Given the description of an element on the screen output the (x, y) to click on. 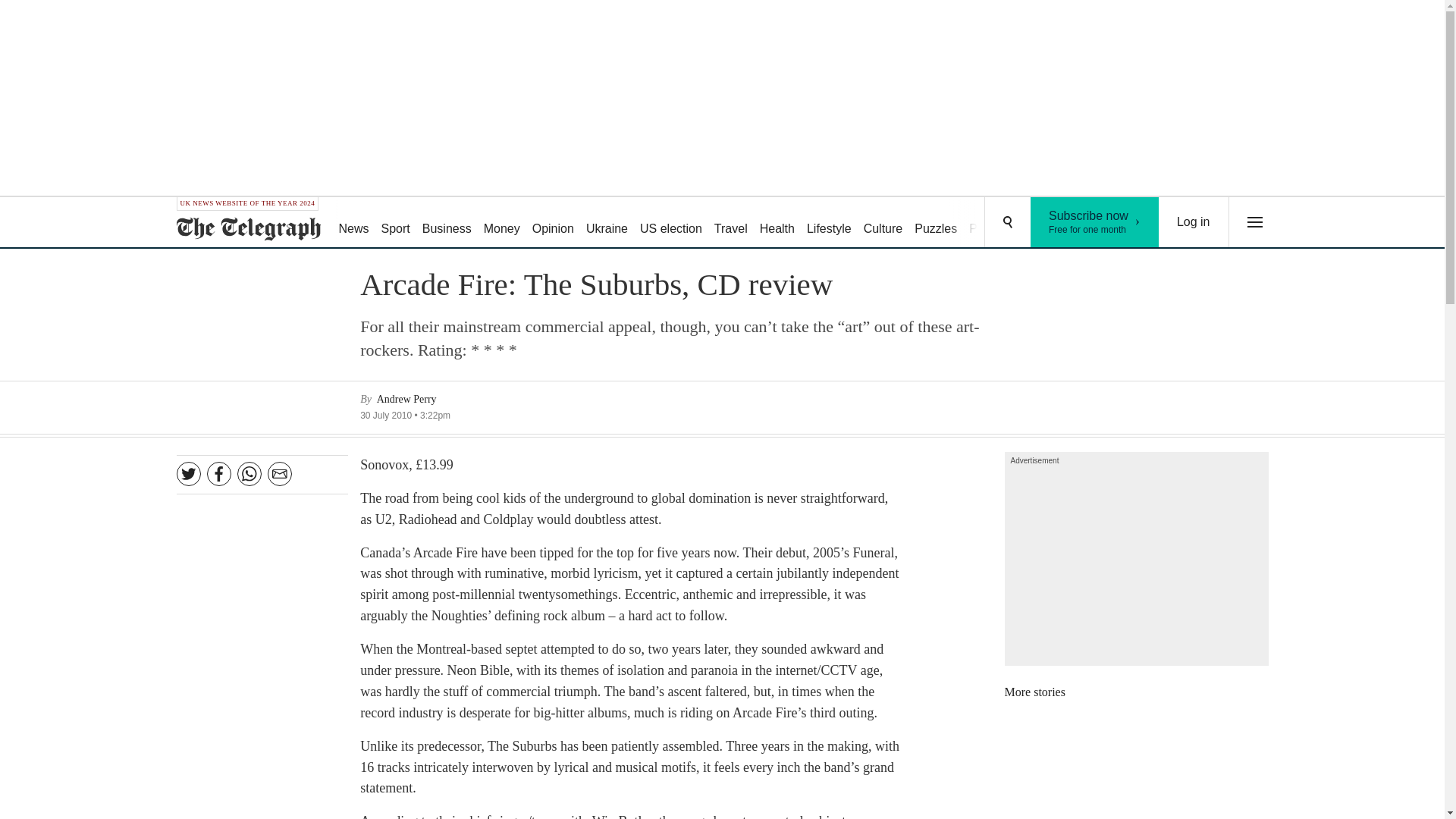
Business (446, 223)
Ukraine (606, 223)
Money (501, 223)
US election (670, 223)
Health (777, 223)
Puzzles (935, 223)
Podcasts (993, 223)
Travel (730, 223)
Log in (1193, 222)
Culture (882, 223)
